Given the description of an element on the screen output the (x, y) to click on. 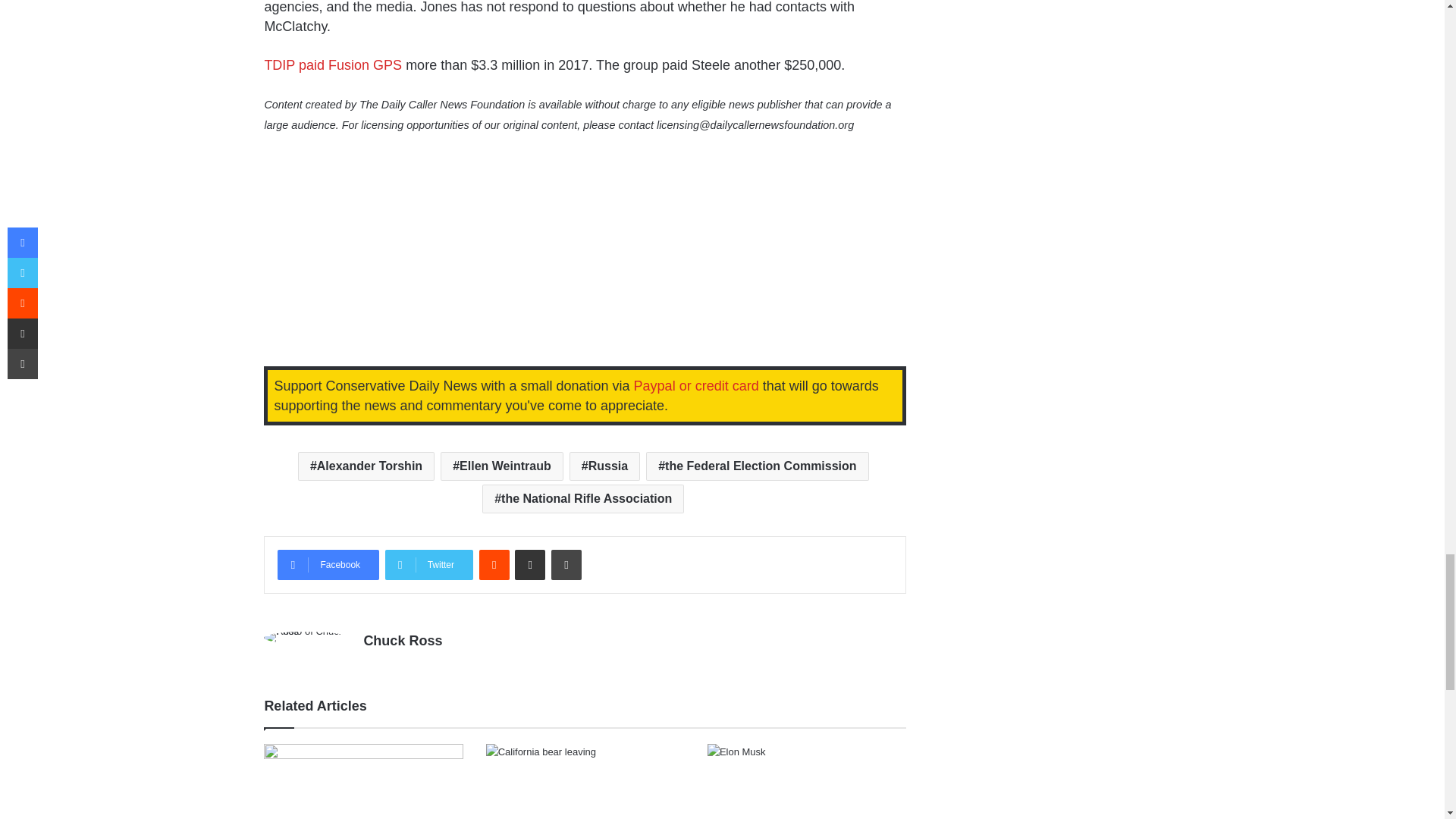
Twitter (429, 564)
Reddit (494, 564)
Facebook (328, 564)
